Given the description of an element on the screen output the (x, y) to click on. 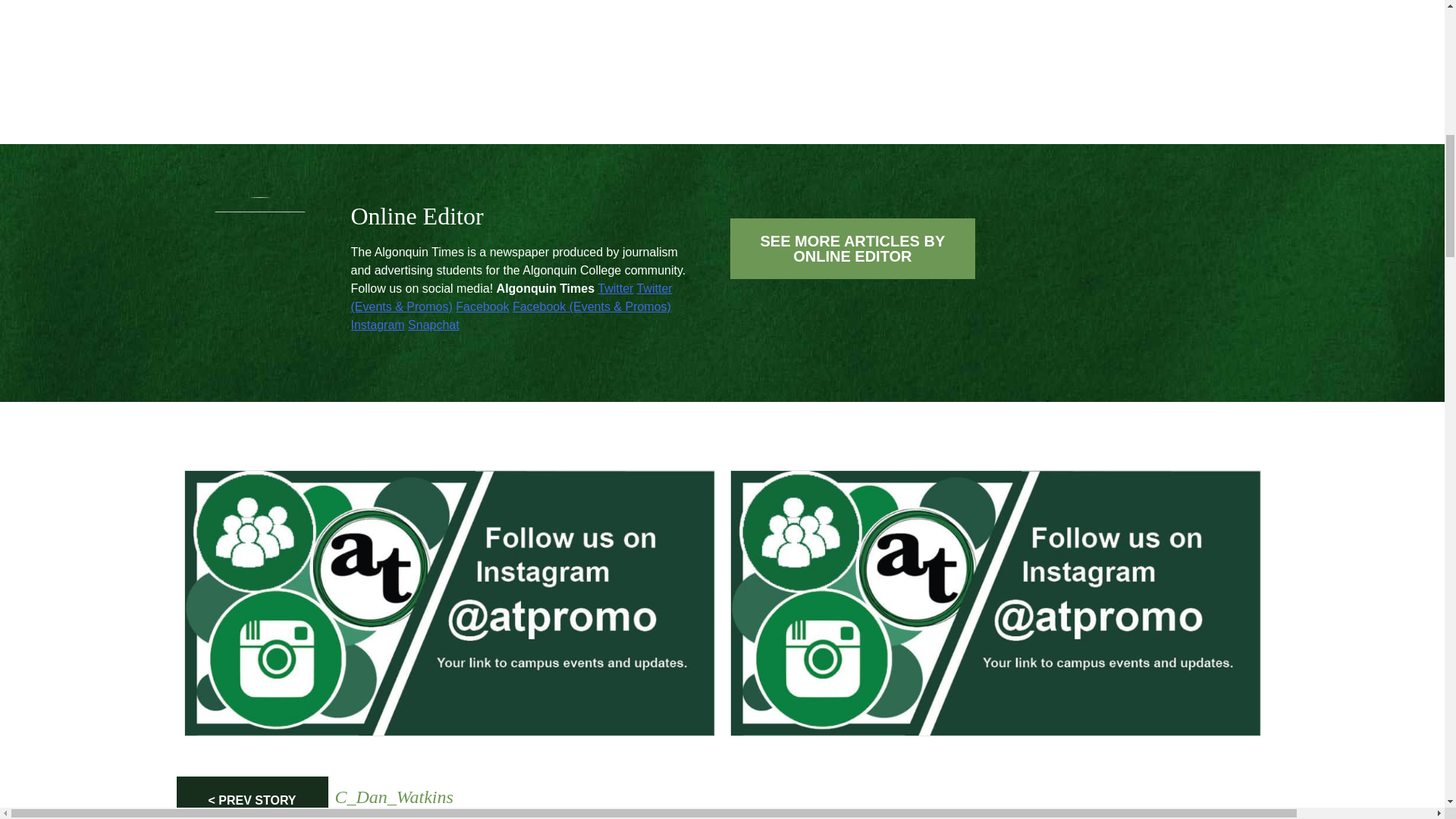
Twitter (852, 248)
Snapchat (614, 287)
Instagram (433, 324)
Facebook (377, 324)
